Given the description of an element on the screen output the (x, y) to click on. 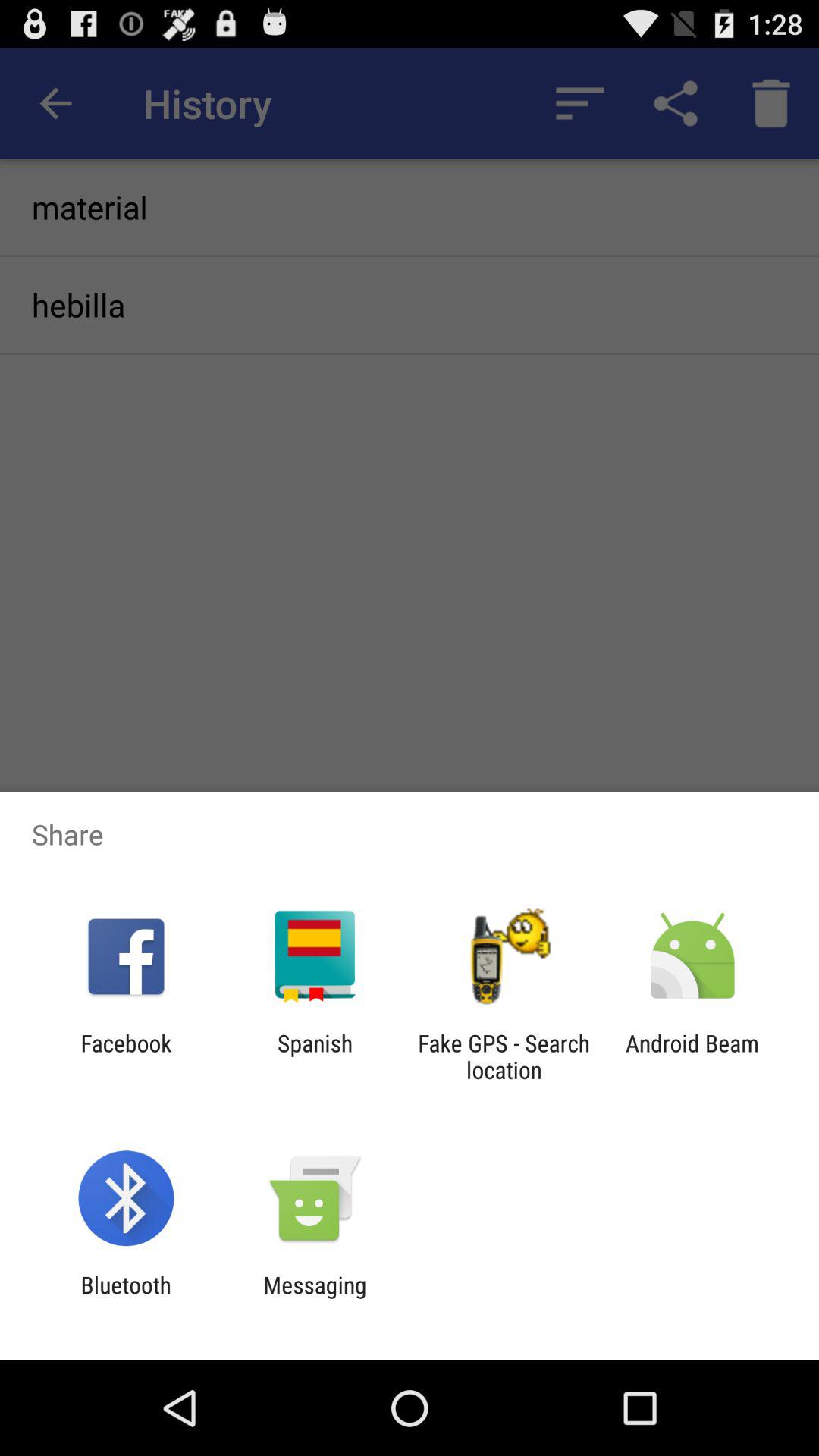
turn off the spanish (314, 1056)
